Given the description of an element on the screen output the (x, y) to click on. 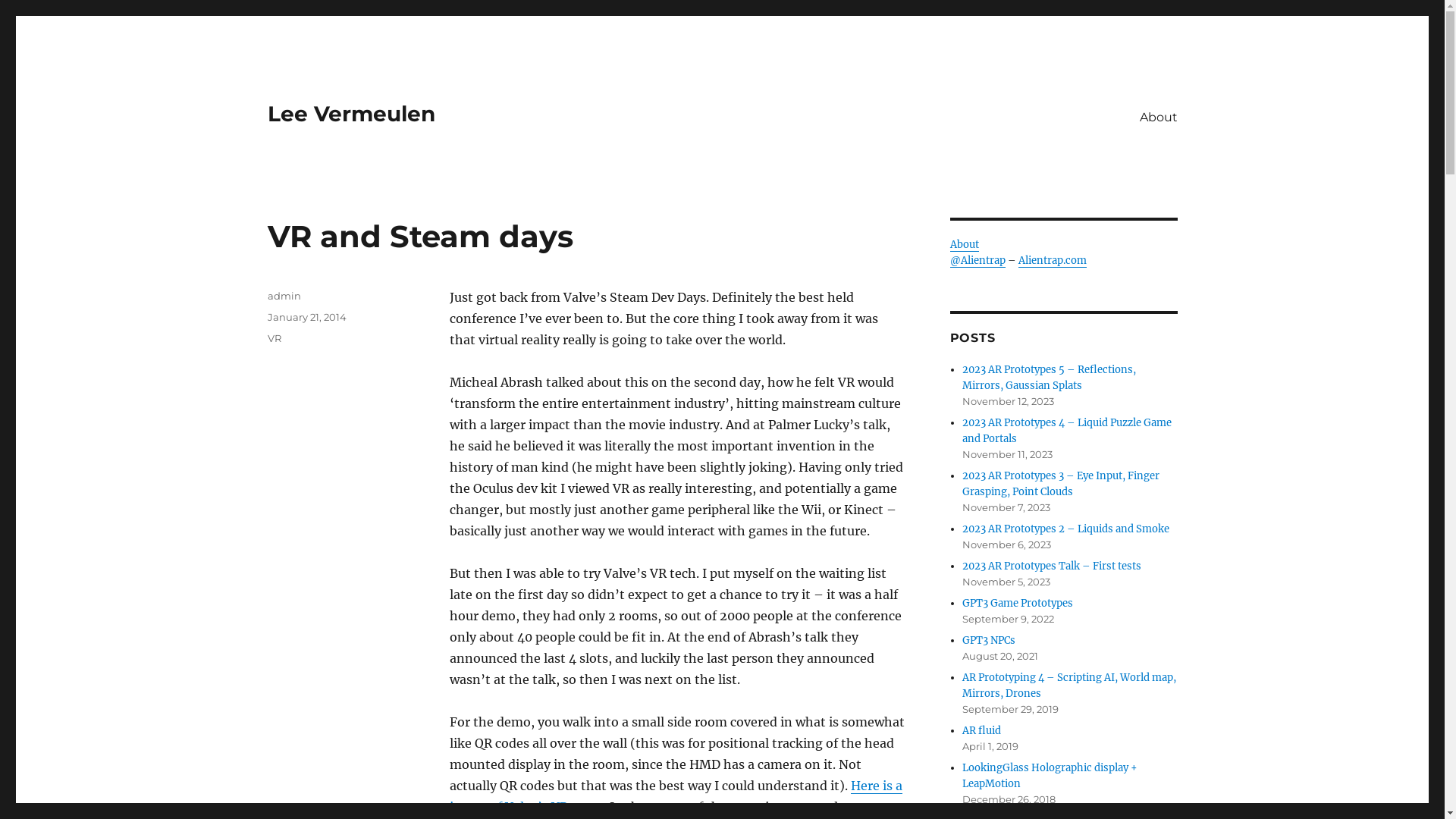
@Alientrap Element type: text (976, 260)
Alientrap.com Element type: text (1051, 260)
January 21, 2014 Element type: text (305, 316)
VR Element type: text (273, 338)
GPT3 Game Prototypes Element type: text (1017, 602)
LookingGlass Holographic display + LeapMotion Element type: text (1049, 775)
About Element type: text (963, 244)
GPT3 NPCs Element type: text (988, 639)
admin Element type: text (283, 295)
Lee Vermeulen Element type: text (350, 113)
About Element type: text (1157, 116)
AR fluid Element type: text (981, 730)
